Given the description of an element on the screen output the (x, y) to click on. 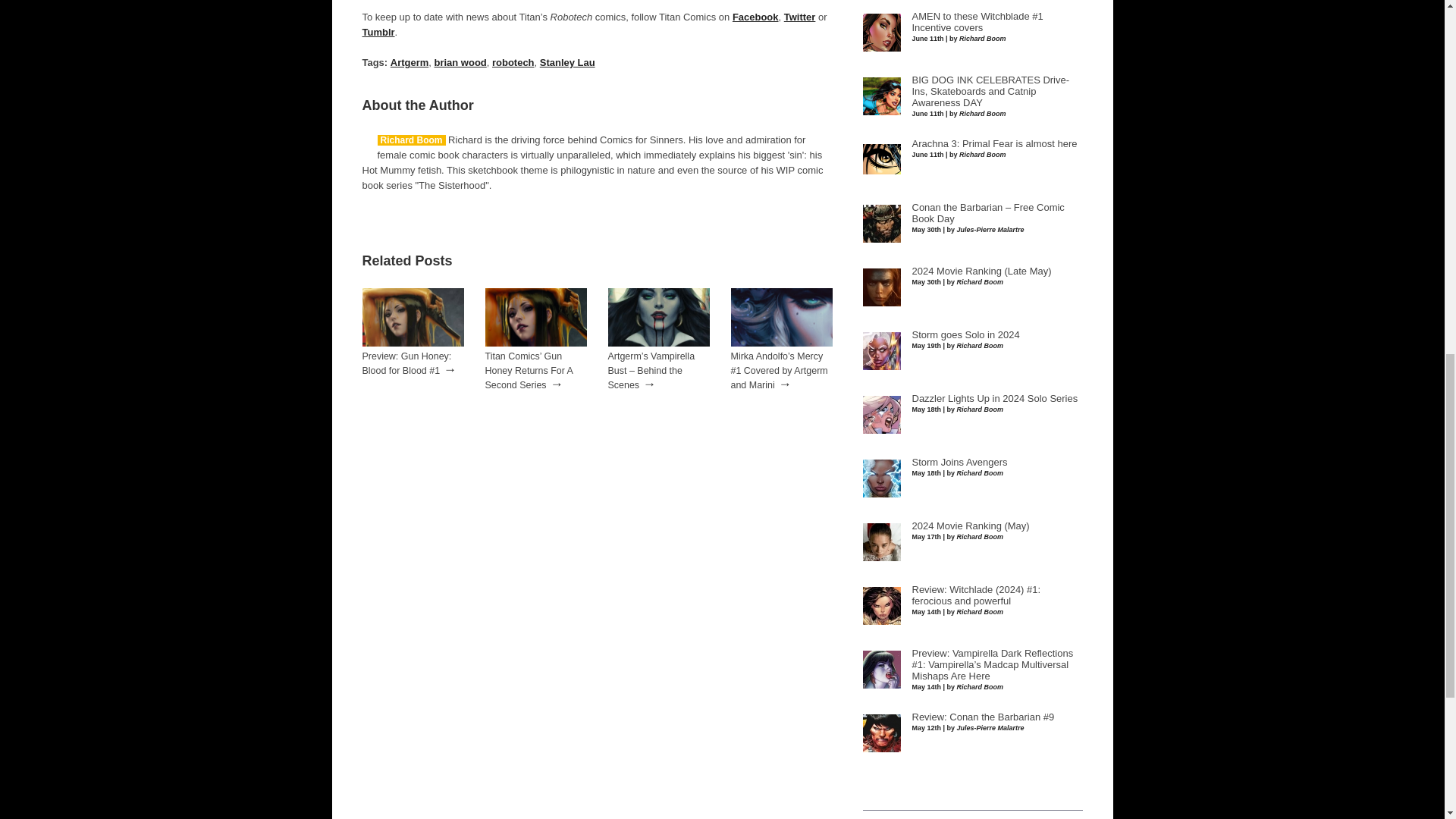
Twitter (799, 16)
Posts by Richard Boom (411, 140)
Arachna 3: Primal Fear is almost here (994, 143)
Facebook (755, 16)
Tumblr (378, 31)
